Given the description of an element on the screen output the (x, y) to click on. 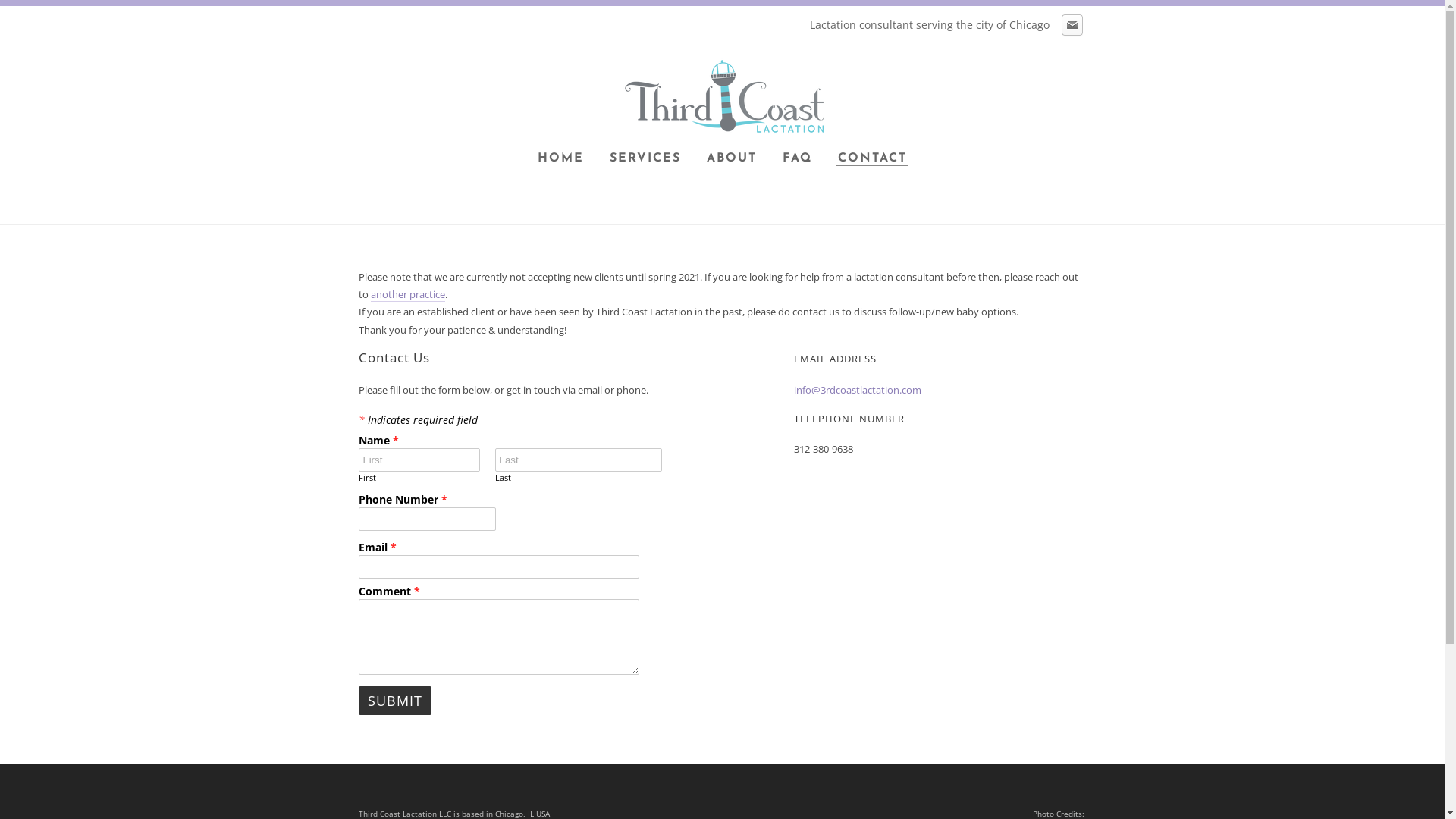
CONTACT Element type: text (872, 158)
ABOUT Element type: text (731, 158)
another practice Element type: text (407, 294)
SERVICES Element type: text (645, 158)
HOME Element type: text (560, 158)
FAQ Element type: text (797, 158)
info@3rdcoastlactation.com Element type: text (857, 389)
SUBMIT Element type: text (393, 700)
